Given the description of an element on the screen output the (x, y) to click on. 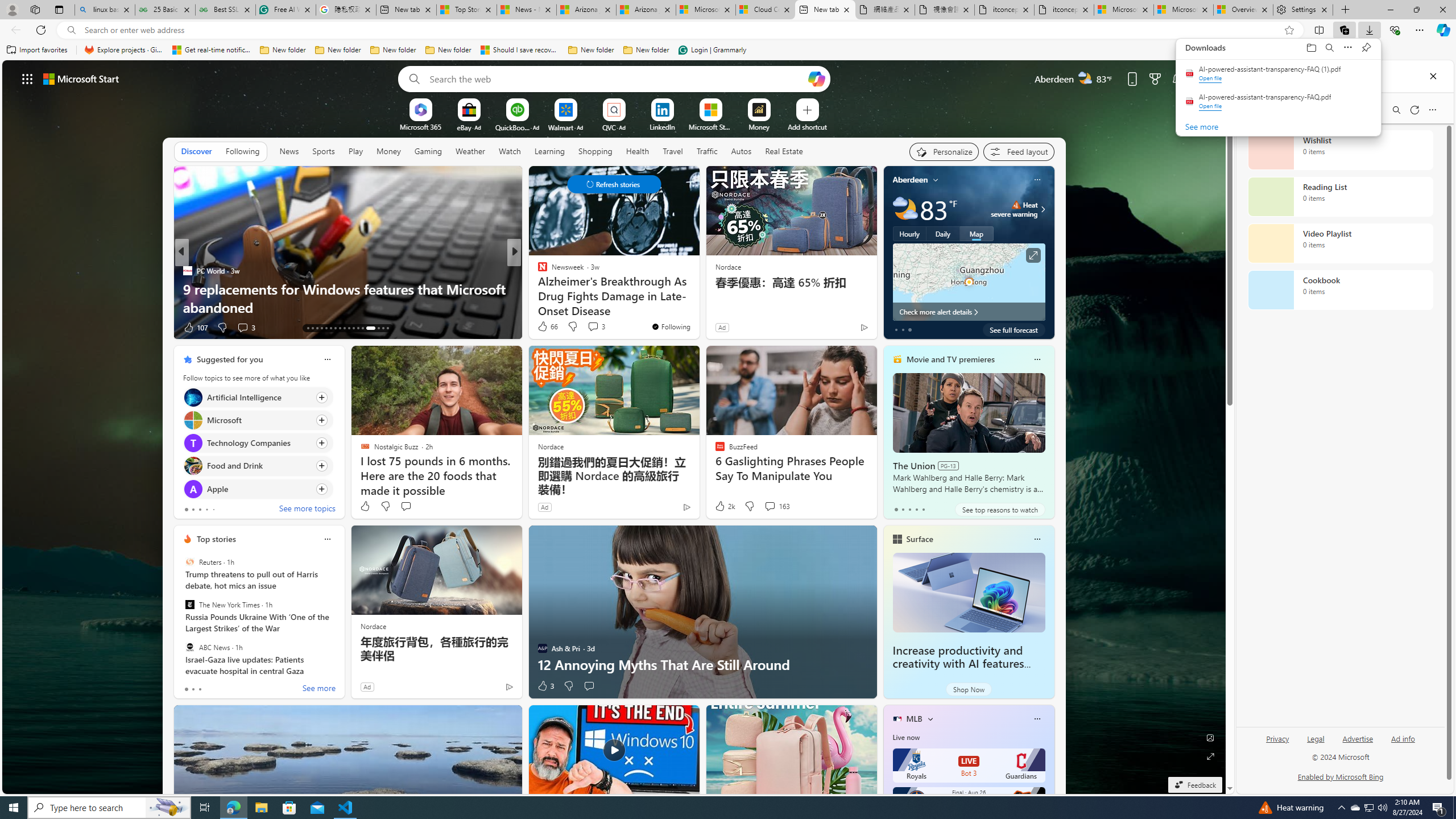
Login | Grammarly (712, 49)
Autos (740, 151)
Map (975, 233)
Sports (323, 151)
My location (936, 179)
Start the conversation (588, 685)
tab-3 (916, 509)
Microsoft (192, 419)
Click to follow topic Microsoft (257, 419)
Suggested for you (229, 359)
oceanbluemarine (558, 288)
